Given the description of an element on the screen output the (x, y) to click on. 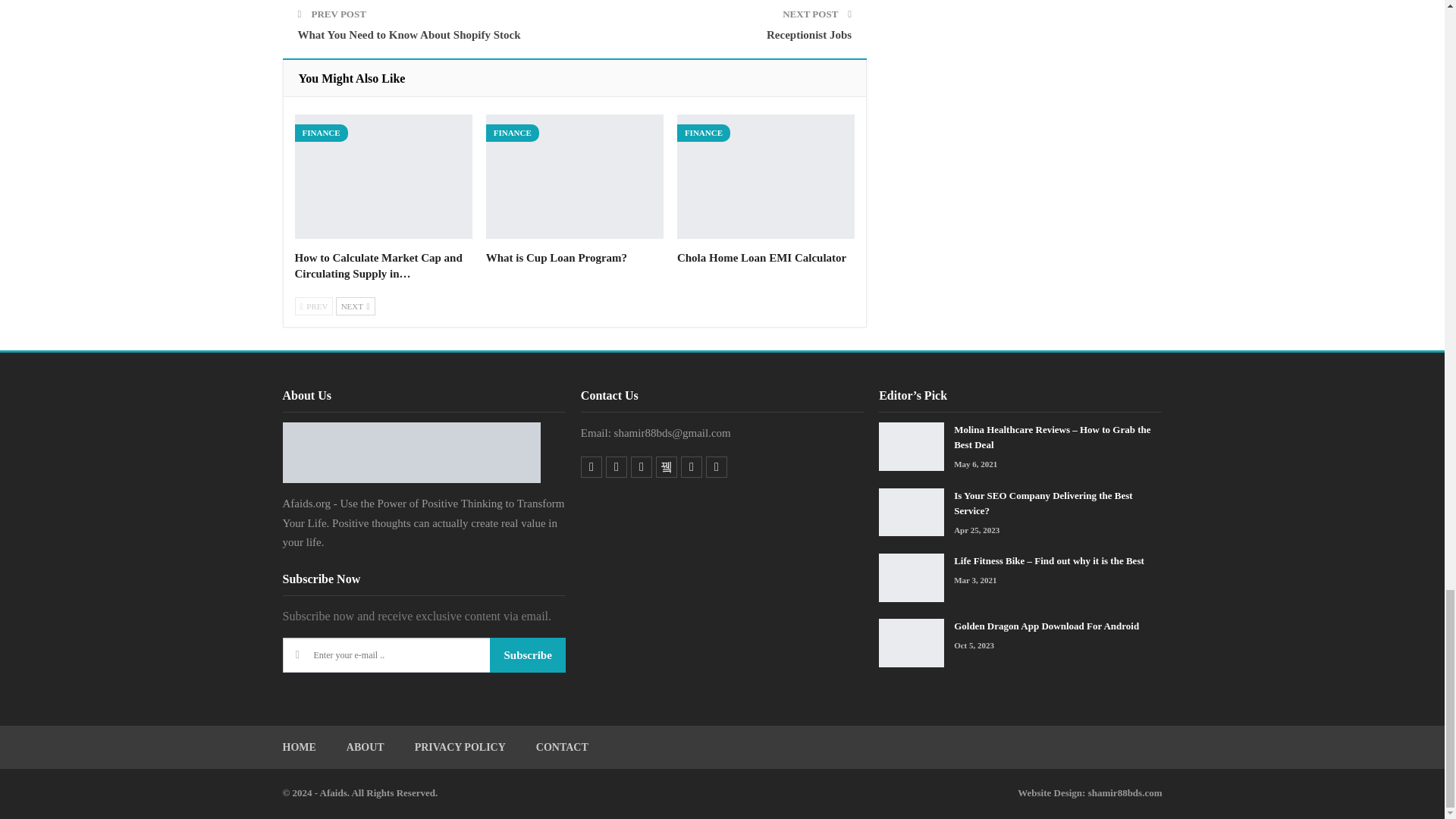
What is Cup Loan Program? (574, 176)
What is Cup Loan Program? (556, 257)
